Given the description of an element on the screen output the (x, y) to click on. 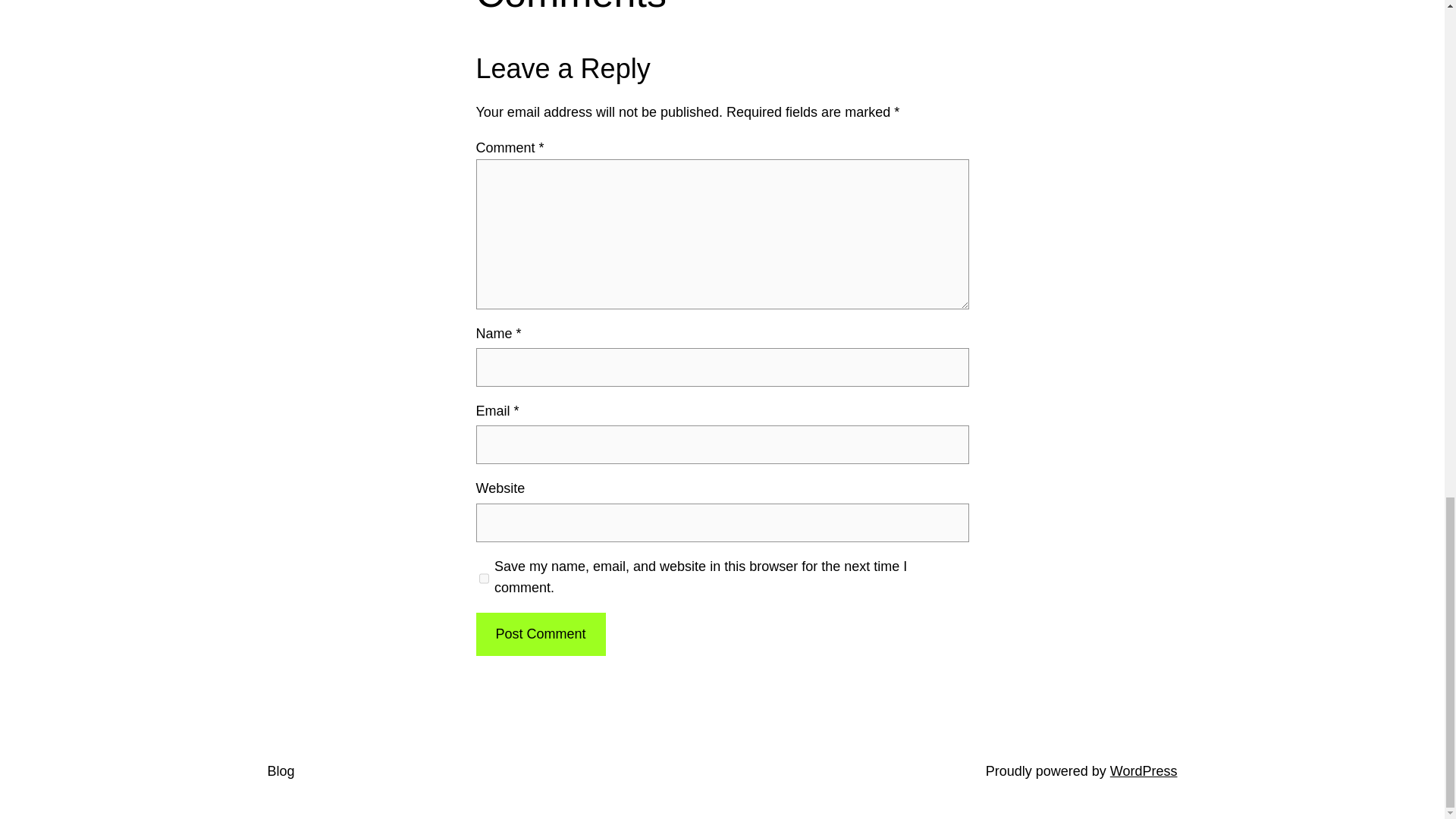
Blog (280, 770)
Post Comment (540, 634)
Post Comment (540, 634)
WordPress (1143, 770)
